Given the description of an element on the screen output the (x, y) to click on. 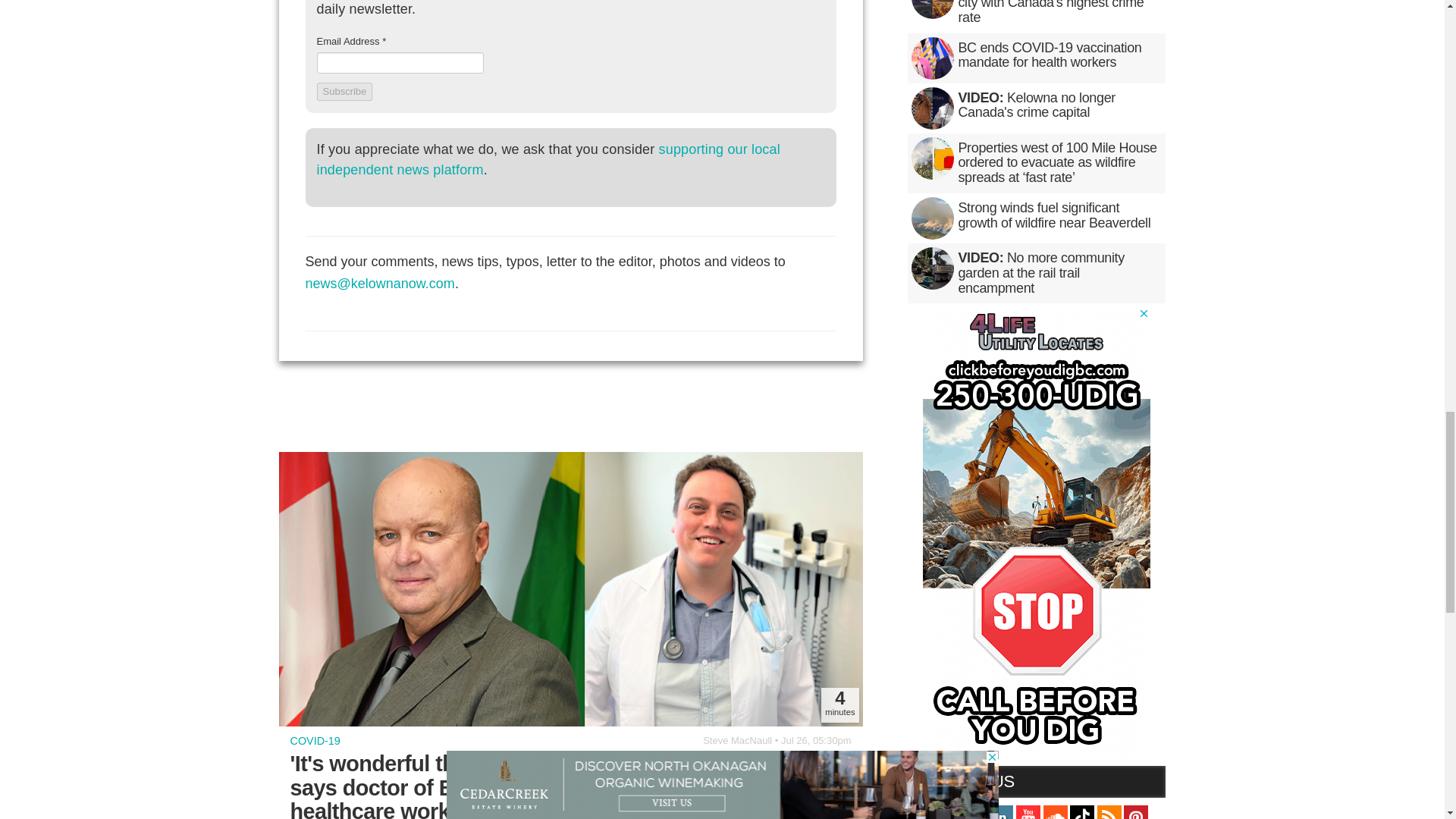
Subscribe (344, 91)
